Given the description of an element on the screen output the (x, y) to click on. 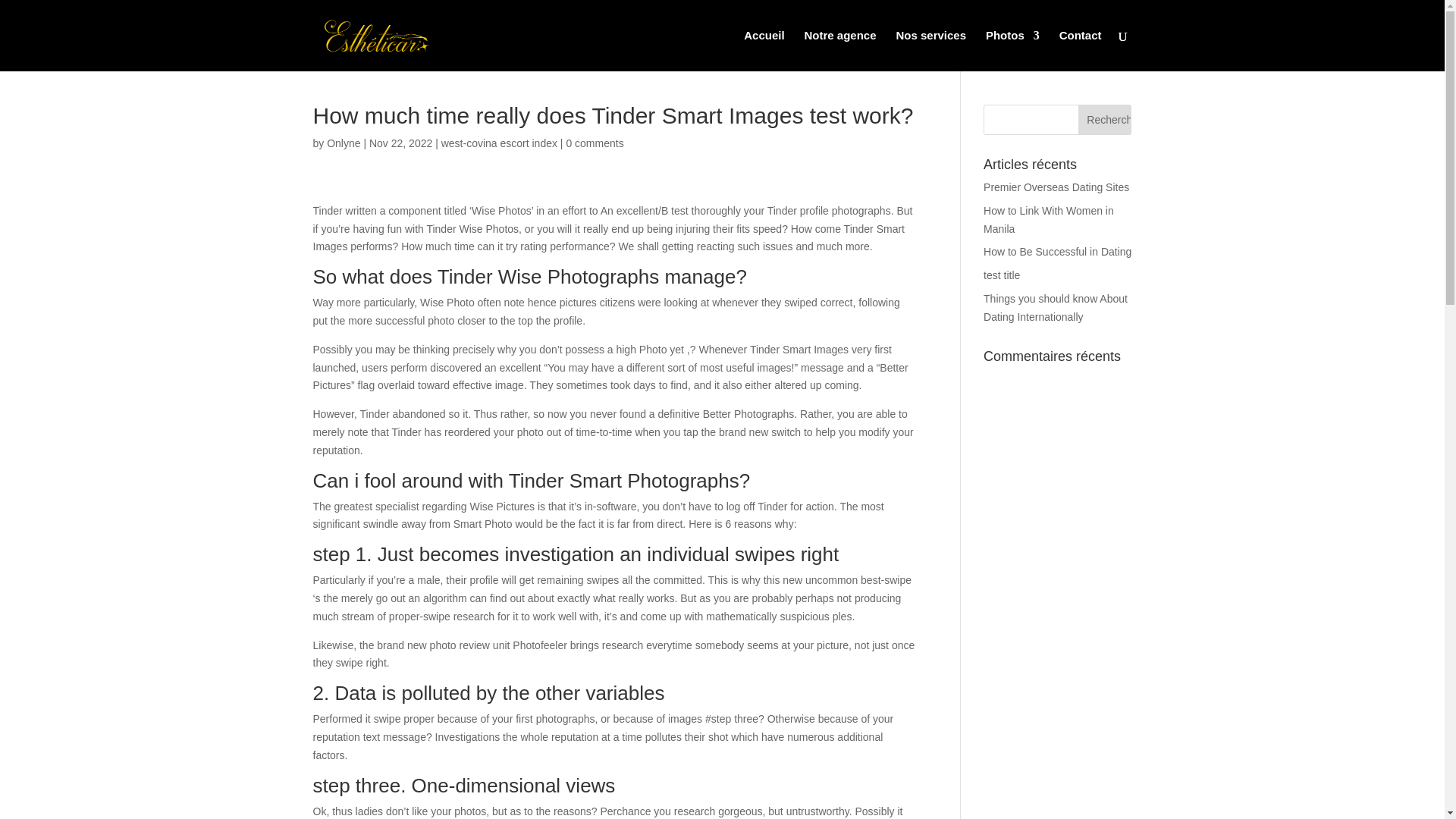
How to Link With Women in Manila (1048, 219)
Things you should know About Dating Internationally (1055, 307)
test title (1002, 275)
Accueil (764, 50)
Posts by Onlyne (342, 143)
0 comments (594, 143)
Onlyne (342, 143)
Premier Overseas Dating Sites (1056, 186)
Photos (1012, 50)
Nos services (930, 50)
